Given the description of an element on the screen output the (x, y) to click on. 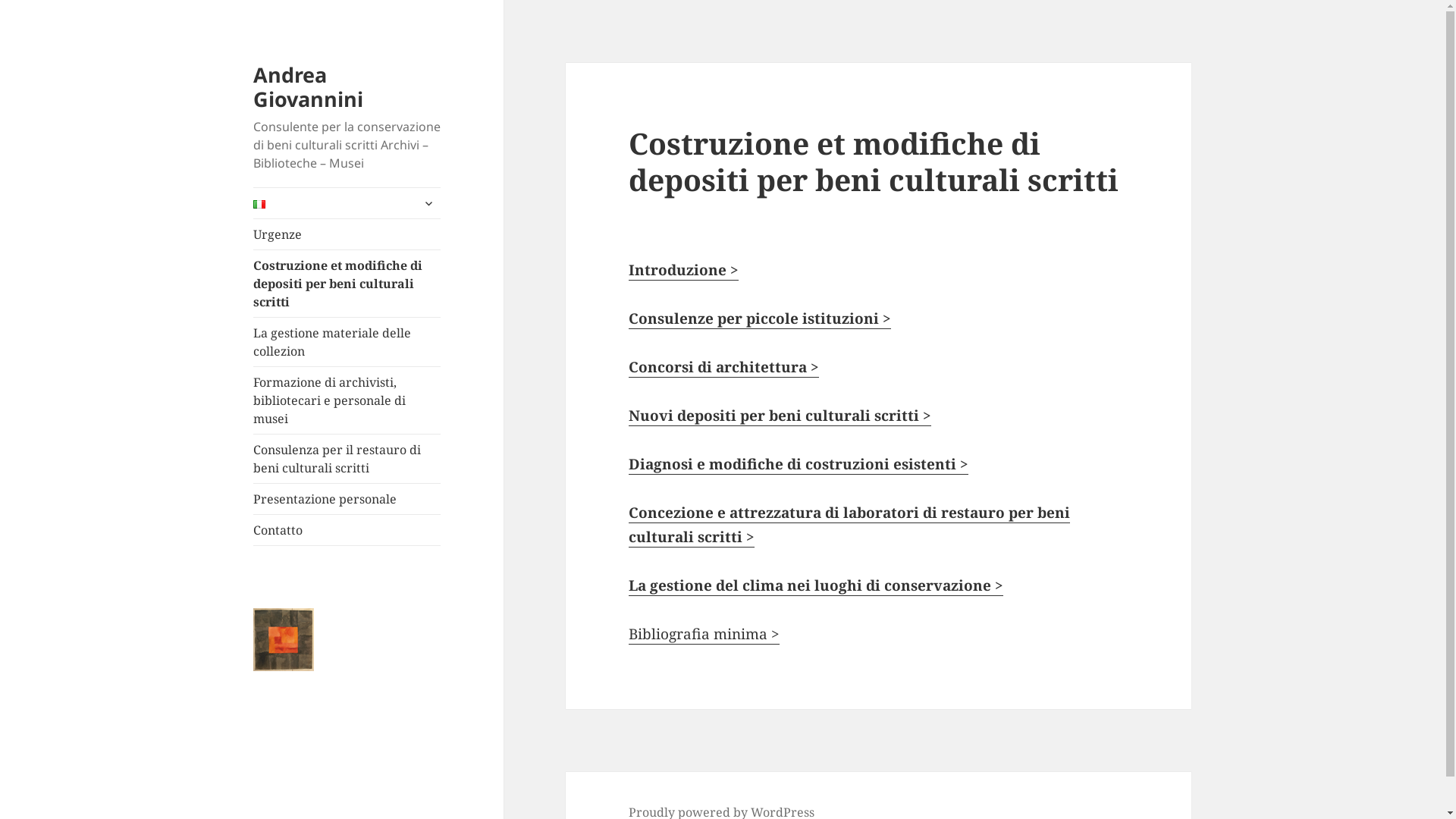
Nuovi depositi per beni culturali scritti > Element type: text (779, 415)
Introduzione > Element type: text (683, 270)
La gestione materiale delle collezion Element type: text (347, 341)
Consulenze per piccole istituzioni > Element type: text (759, 318)
La gestione del clima nei luoghi di conservazione > Element type: text (815, 585)
Contatto Element type: text (347, 529)
Diagnosi e modifiche di costruzioni esistenti > Element type: text (798, 464)
Consulenza per il restauro di beni culturali scritti Element type: text (347, 458)
Arte Element type: text (271, 626)
Formazione di archivisti, bibliotecari e personale di musei Element type: text (347, 400)
Andrea Giovannini Element type: text (308, 86)
Concorsi di architettura > Element type: text (723, 367)
Bibliografia minima > Element type: text (703, 634)
Presentazione personale Element type: text (347, 498)
Urgenze Element type: text (347, 234)
